Given the description of an element on the screen output the (x, y) to click on. 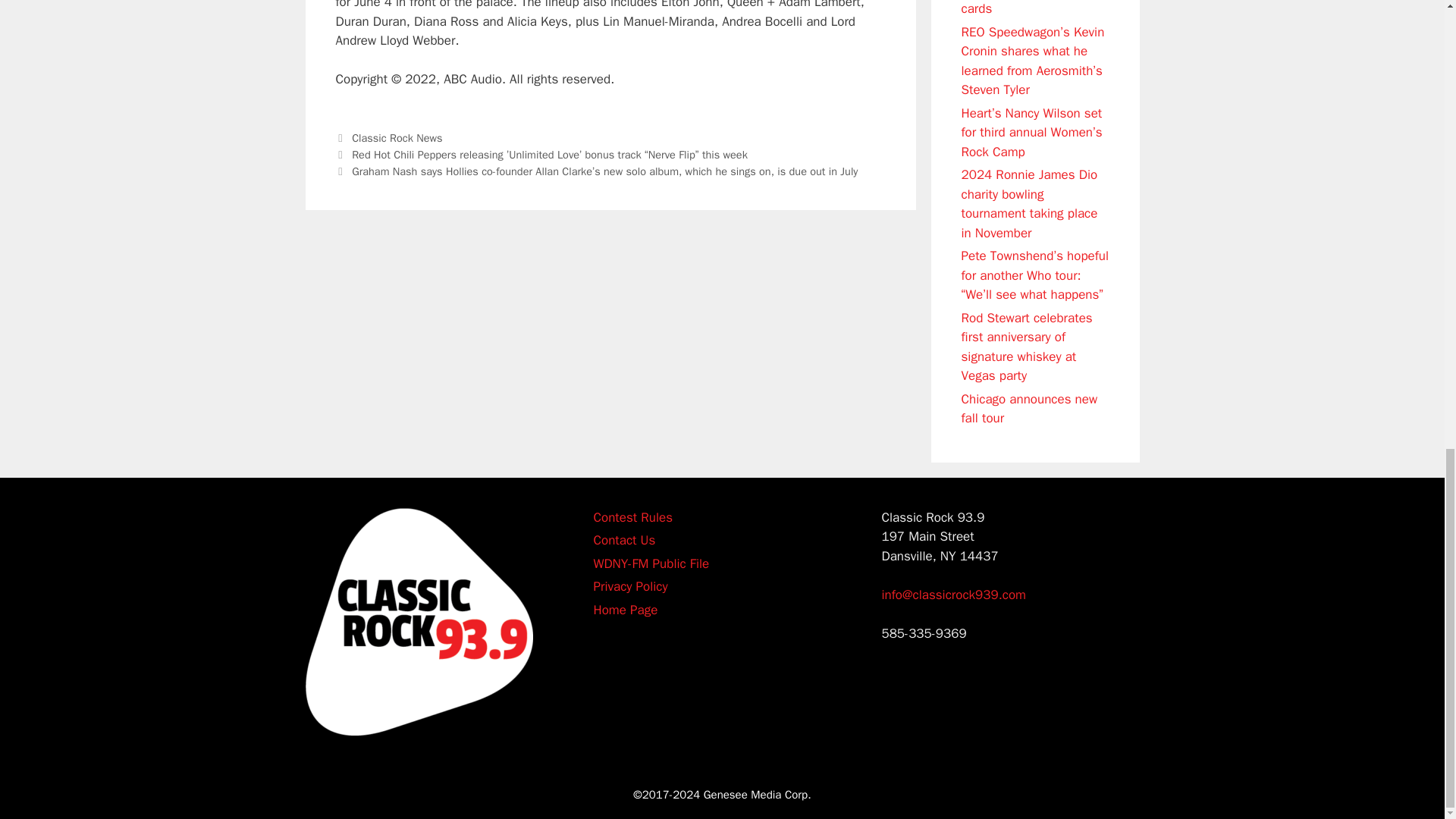
Classic Rock News (397, 137)
Contest Rules (632, 516)
Chicago announces new fall tour (1028, 407)
The Rolling Stones to be featured on new trading cards (1029, 8)
